Given the description of an element on the screen output the (x, y) to click on. 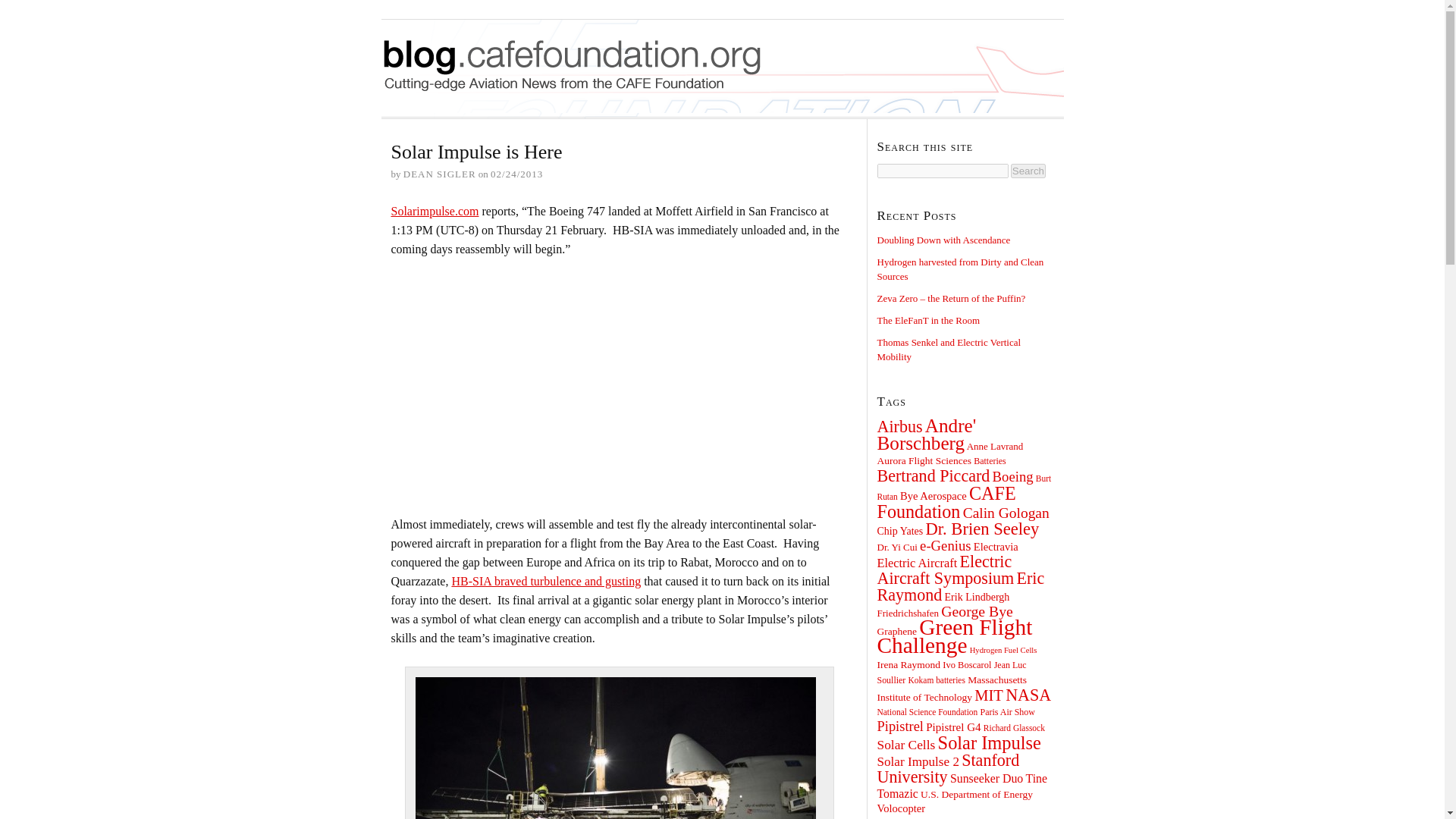
Dr. Yi Cui (896, 546)
Calin Gologan (1005, 512)
Andre' Borschberg (925, 434)
across america loading 1 (614, 748)
Burt Rutan (963, 487)
Search (1027, 170)
Dr. Brien Seeley (981, 528)
Bertrand Piccard (933, 475)
Electric Aircraft (916, 563)
Search (1027, 170)
